Given the description of an element on the screen output the (x, y) to click on. 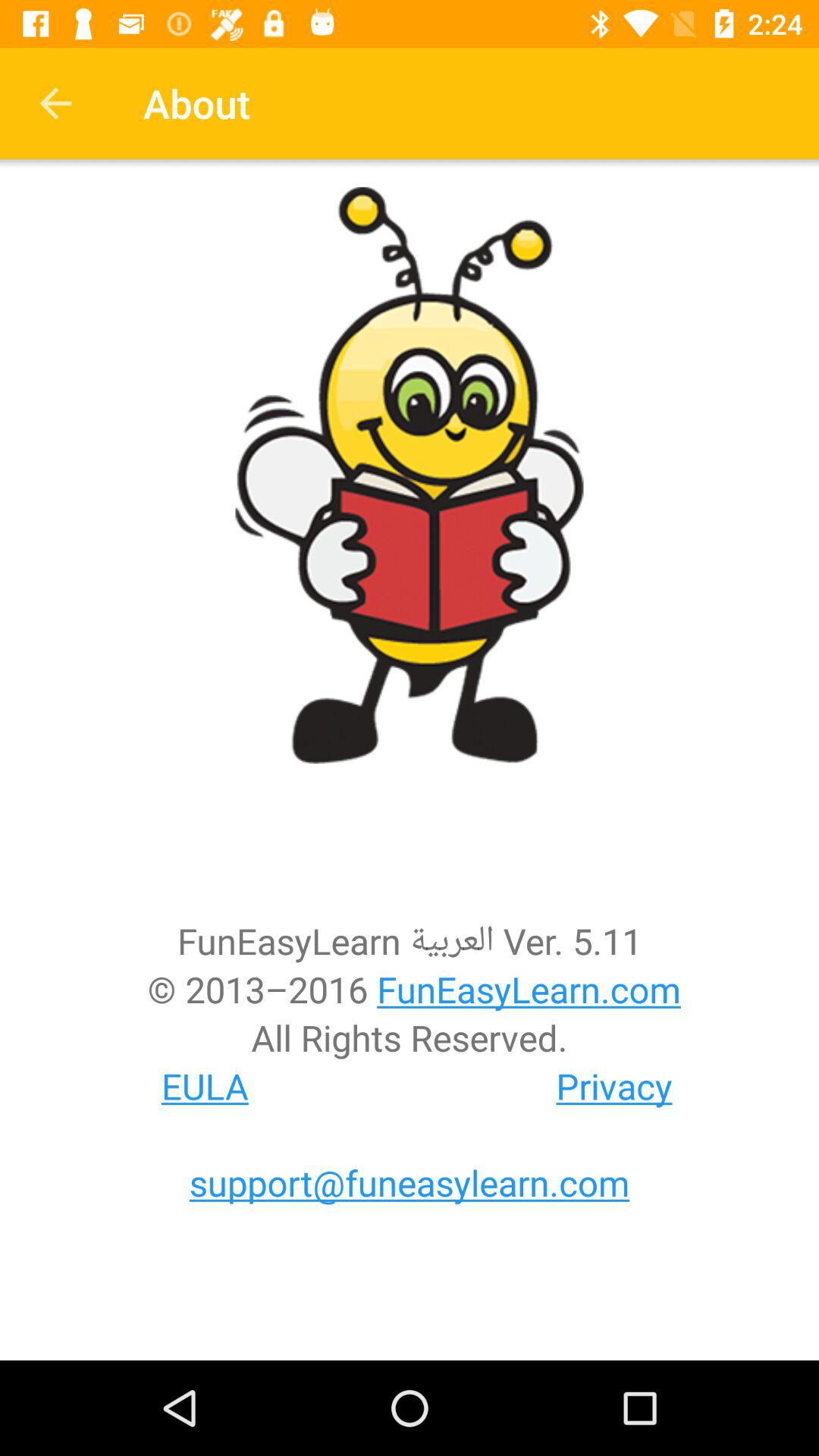
tap icon next to the about (55, 103)
